Given the description of an element on the screen output the (x, y) to click on. 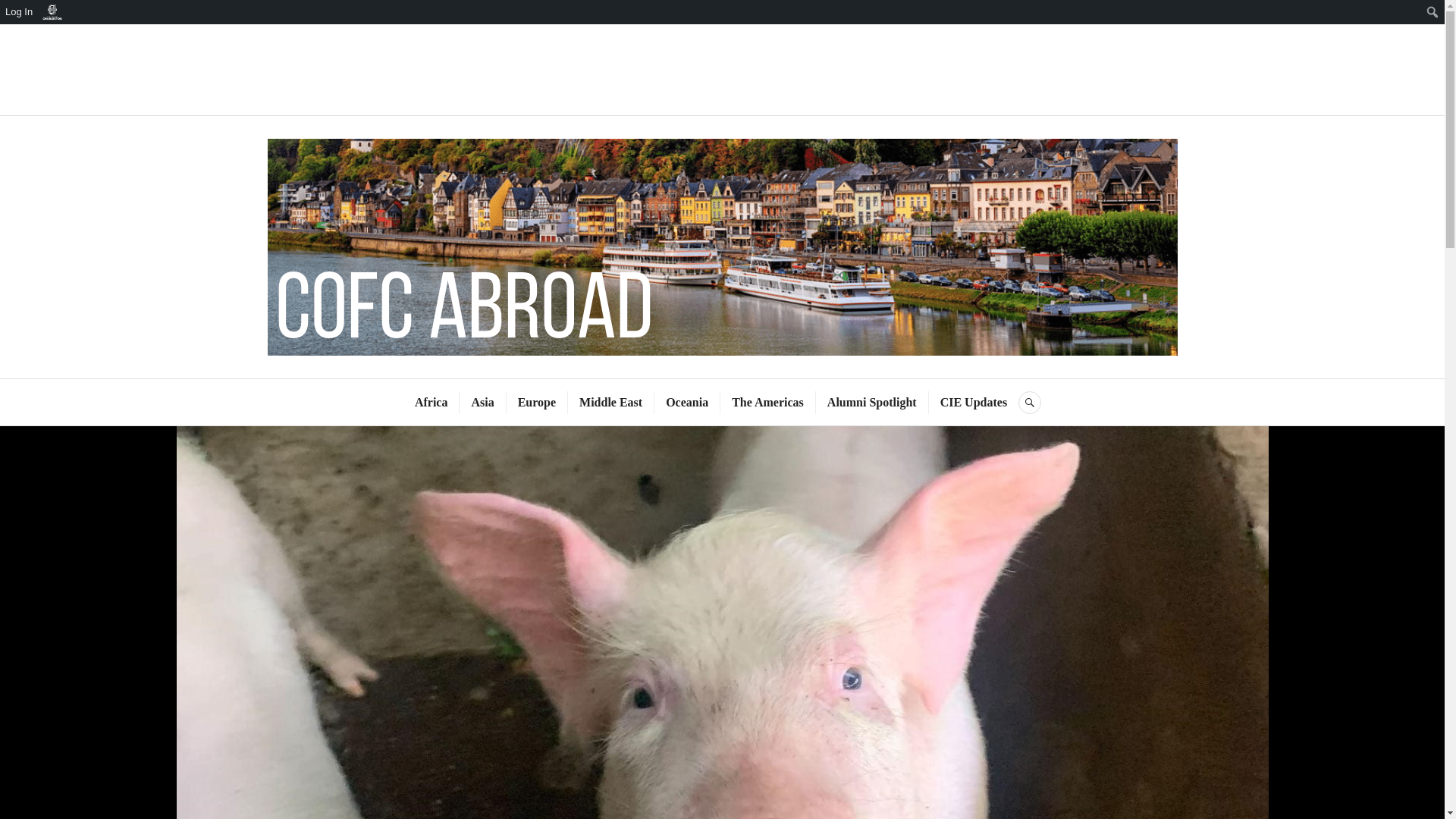
About WordPress (52, 12)
CofC Abroad (721, 69)
Oceania (686, 402)
Europe (537, 402)
CIE Updates (973, 402)
Middle East (610, 402)
Africa (431, 402)
Log In (19, 12)
The Americas (767, 402)
Alumni Spotlight (872, 402)
Asia (481, 402)
SEARCH (1029, 402)
